Given the description of an element on the screen output the (x, y) to click on. 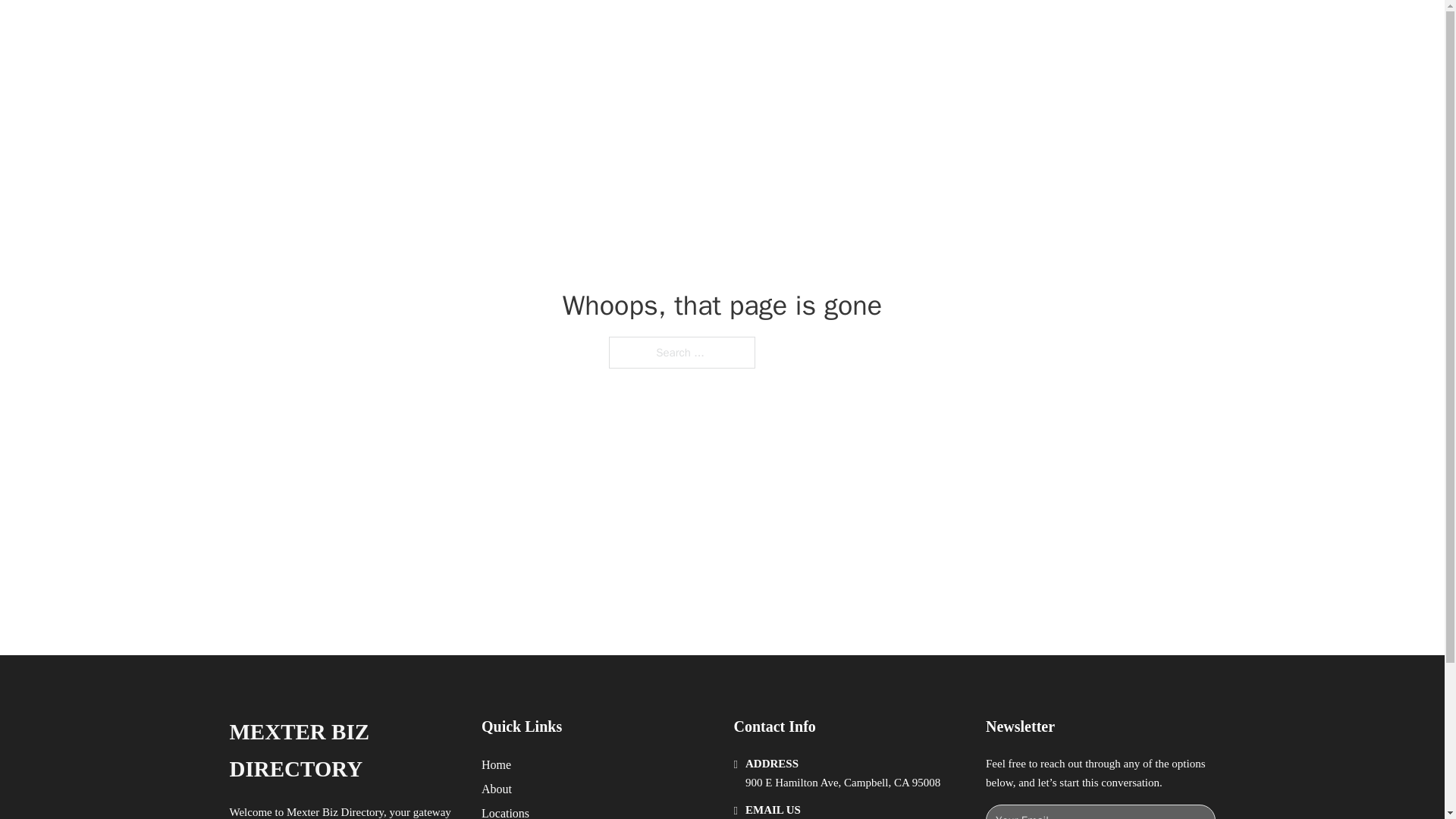
MEXTER BIZ DIRECTORY (343, 750)
HOME (919, 29)
Home (496, 764)
About (496, 788)
Locations (505, 811)
MEXTER BIZ DIRECTORY (429, 28)
LOCATIONS (990, 29)
